Given the description of an element on the screen output the (x, y) to click on. 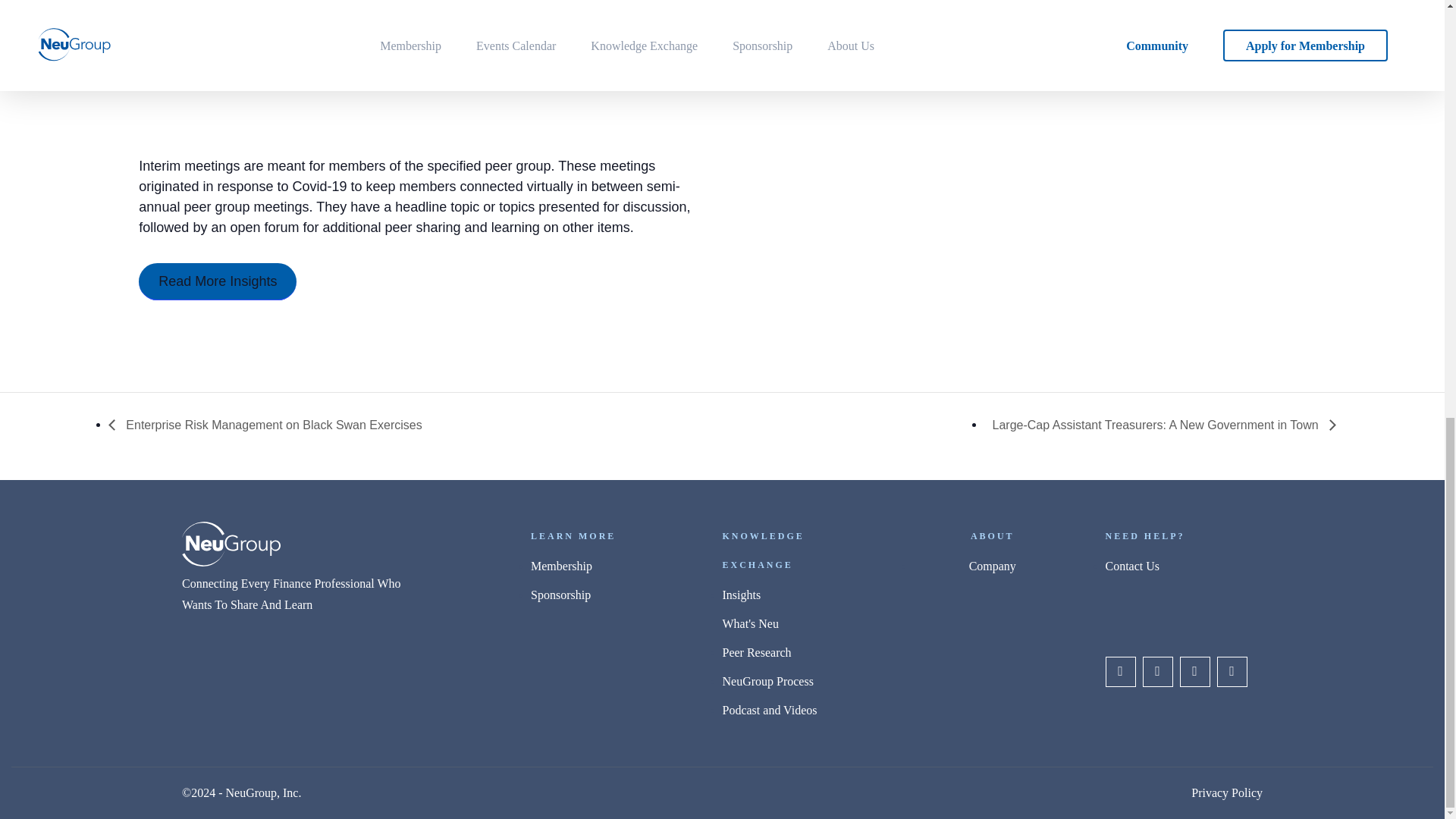
Membership (609, 570)
Insights (800, 598)
Podcast and Videos (800, 714)
What's Neu (800, 627)
Large-Cap Assistant Treasurers: A New Government in Town (1160, 424)
Company (992, 570)
Read More Insights (217, 281)
NeuGroup Process (800, 685)
Peer Research (800, 656)
Contact Us (1184, 570)
Sponsorship (609, 598)
Enterprise Risk Management on Black Swan Exercises (268, 424)
